Given the description of an element on the screen output the (x, y) to click on. 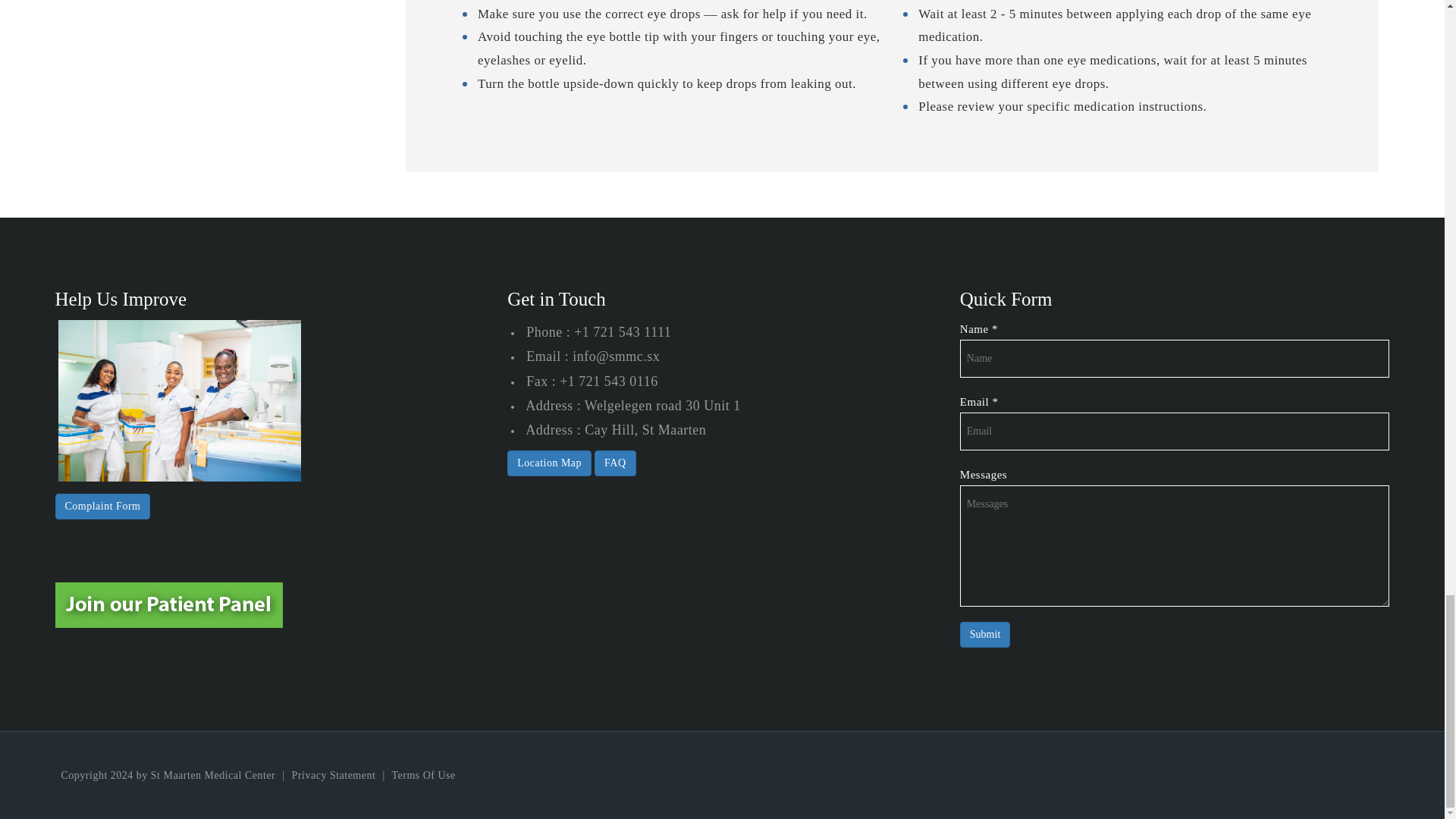
Submit (984, 634)
